Given the description of an element on the screen output the (x, y) to click on. 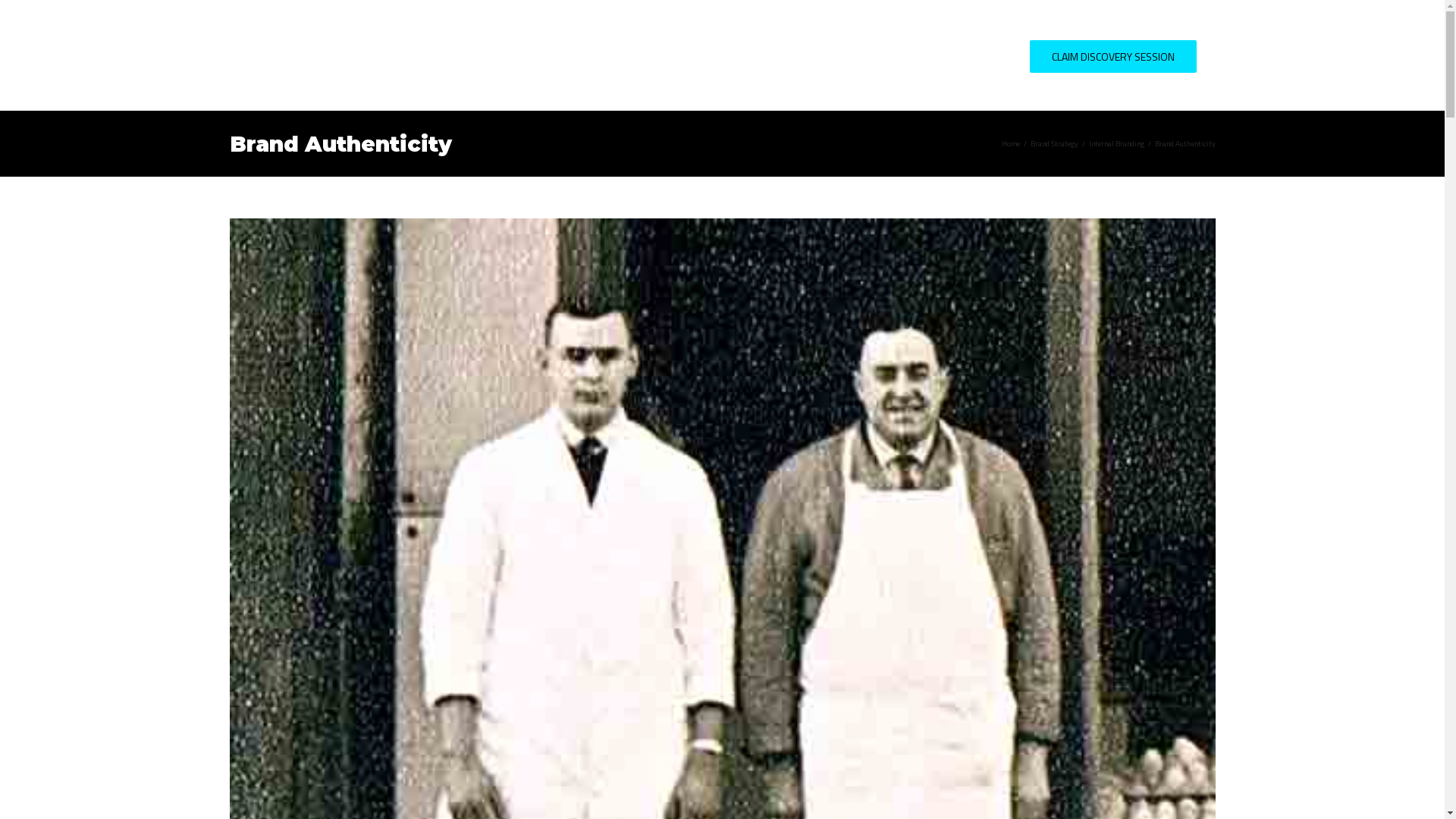
Insights Element type: text (904, 55)
CLAIM DISCOVERY SESSION Element type: text (1112, 55)
Brand Strategy Element type: text (1053, 143)
Internal Branding Element type: text (1116, 143)
Contact Element type: text (981, 55)
Work Element type: text (835, 55)
Home Element type: text (1010, 143)
